Given the description of an element on the screen output the (x, y) to click on. 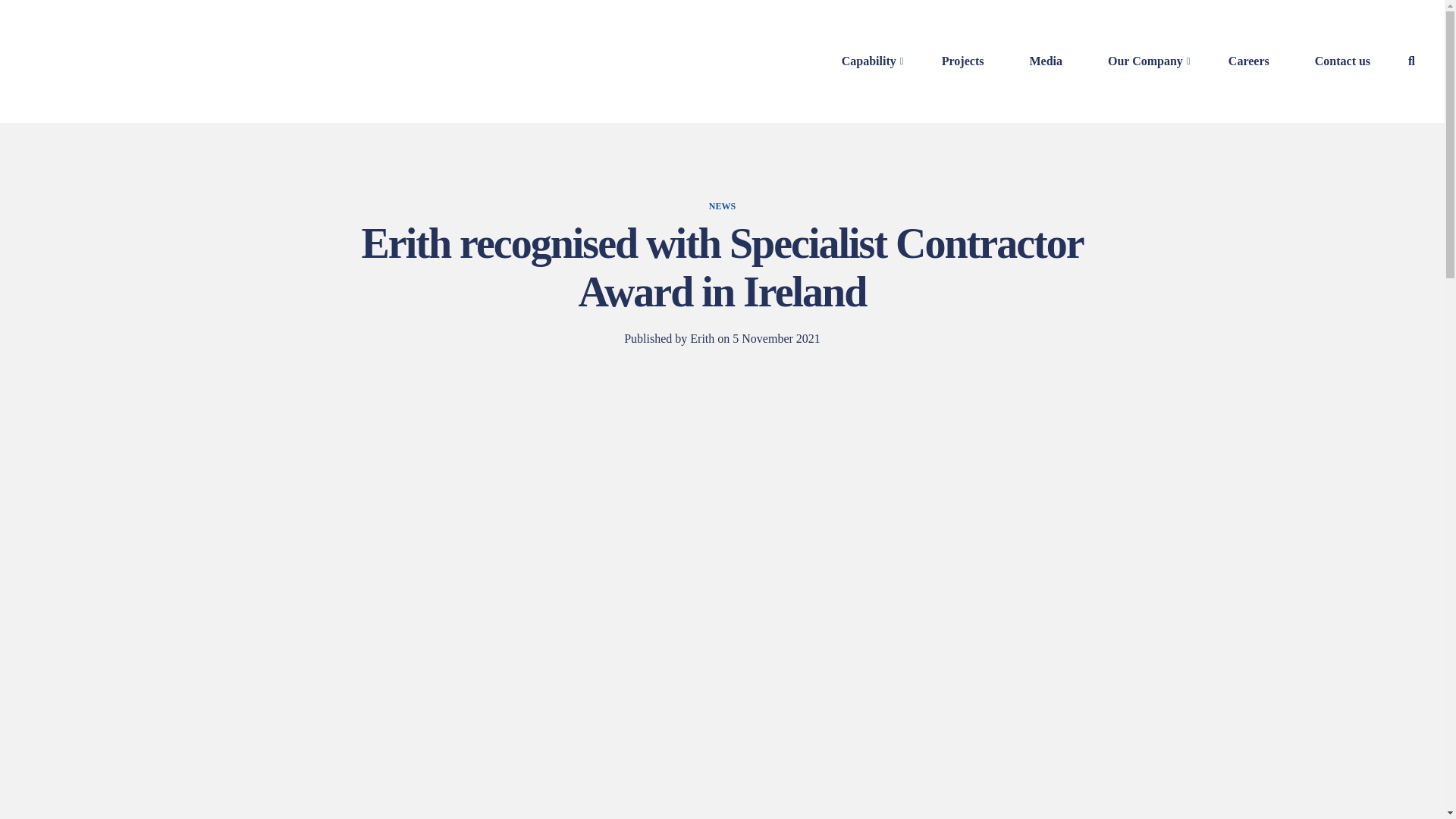
Media (255, 91)
Projects (970, 61)
Contact us (1350, 61)
Home (212, 91)
Careers (1256, 61)
Media (1053, 61)
Our Company (1153, 61)
Capability (876, 61)
